Given the description of an element on the screen output the (x, y) to click on. 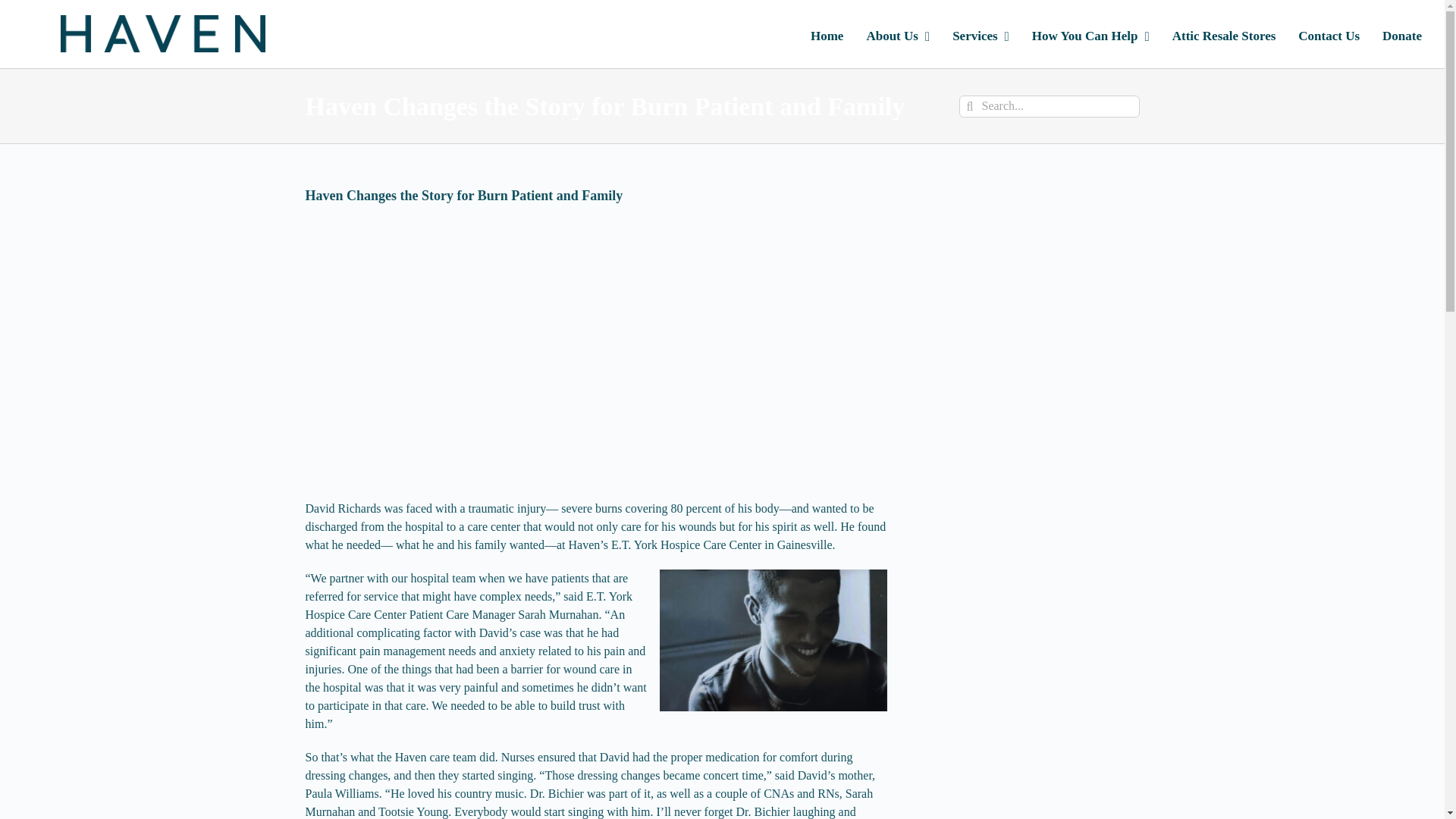
About Us (898, 33)
YouTube video player 1 (532, 619)
How You Can Help (1091, 33)
